Given the description of an element on the screen output the (x, y) to click on. 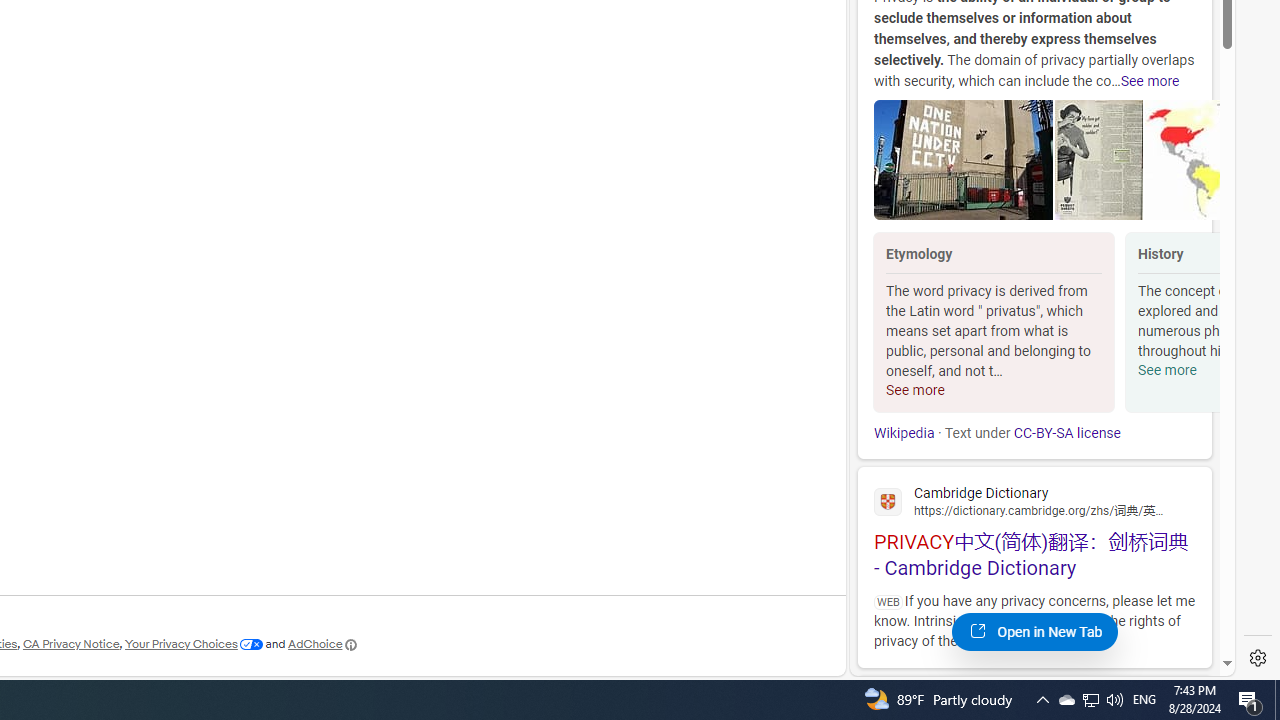
Global web icon (888, 501)
Your Privacy Choices (193, 644)
CC-BY-SA license (1066, 433)
Wikipedia (904, 433)
CA Privacy Notice (70, 644)
AdChoice (323, 644)
Cambridge Dictionary (1034, 500)
Click to scroll right (1196, 324)
